Given the description of an element on the screen output the (x, y) to click on. 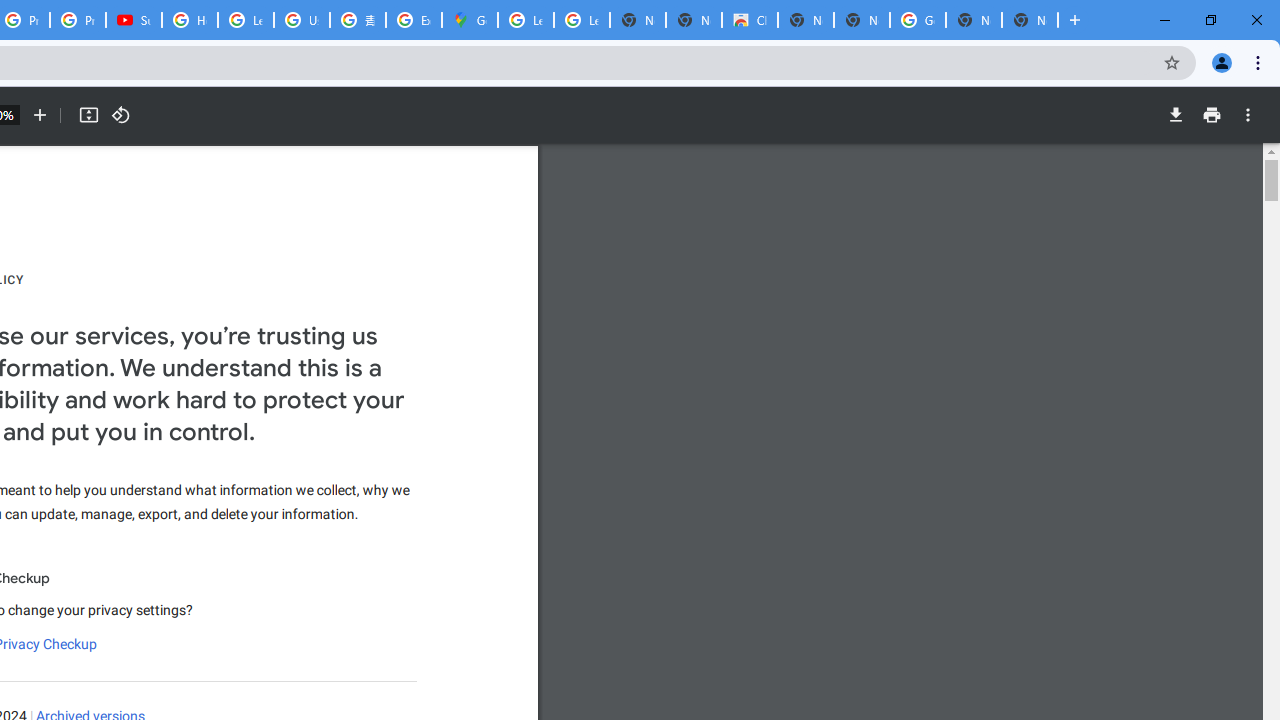
Rotate counterclockwise (119, 115)
New Tab (1030, 20)
Zoom in (39, 115)
Fit to page (87, 115)
